Given the description of an element on the screen output the (x, y) to click on. 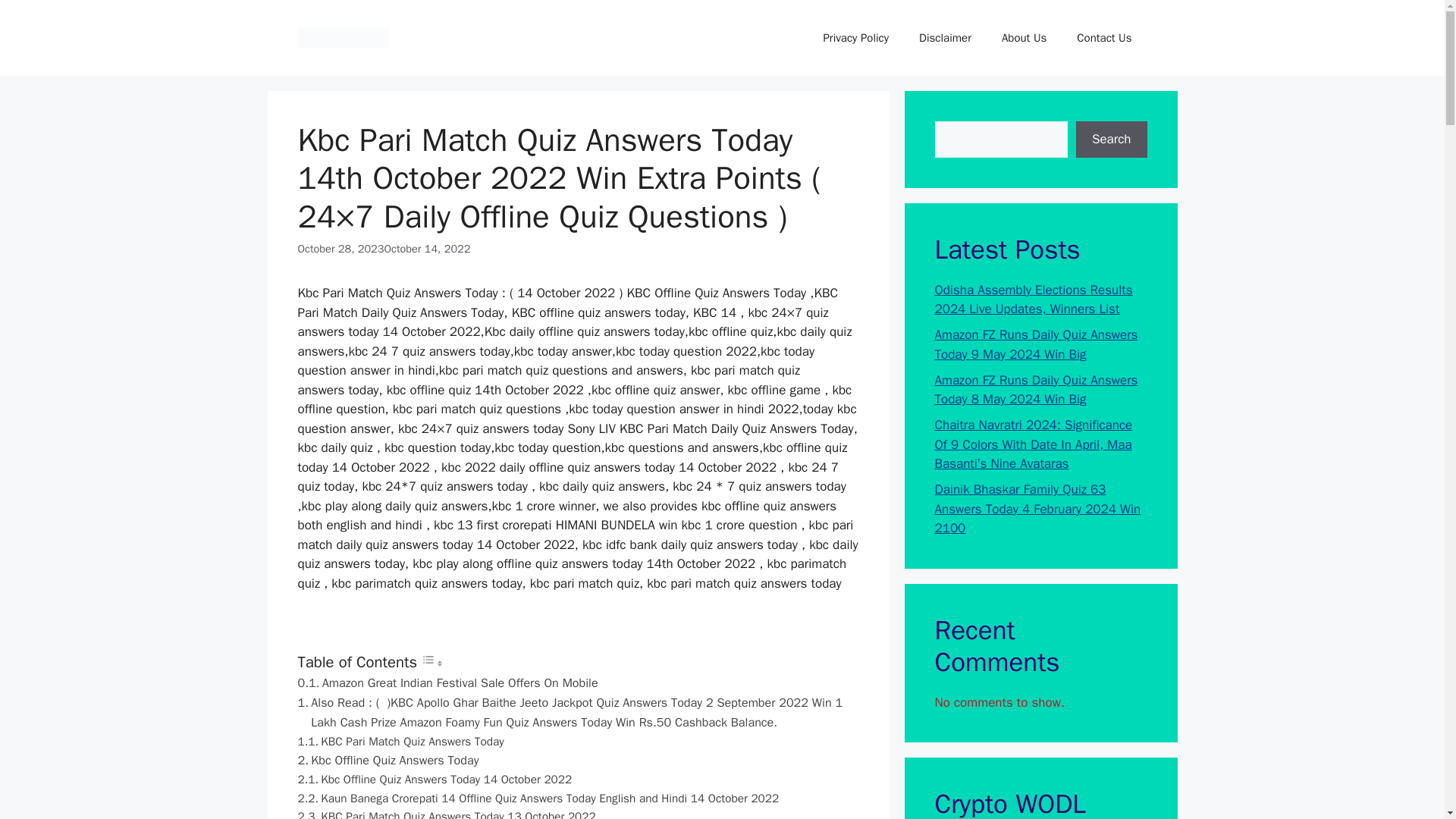
About Us (1024, 37)
Kbc Offline Quiz Answers Today 14 October 2022 (434, 779)
Kbc Offline Quiz Answers Today 14 October 2022 (434, 779)
Amazon Great Indian Festival Sale Offers On Mobile (446, 682)
Amazon Great Indian Festival Sale Offers On Mobile (446, 682)
Disclaimer (945, 37)
Contact Us (1104, 37)
KBC Pari Match Quiz Answers Today 13 October 2022 (446, 813)
Privacy Policy (856, 37)
